Given the description of an element on the screen output the (x, y) to click on. 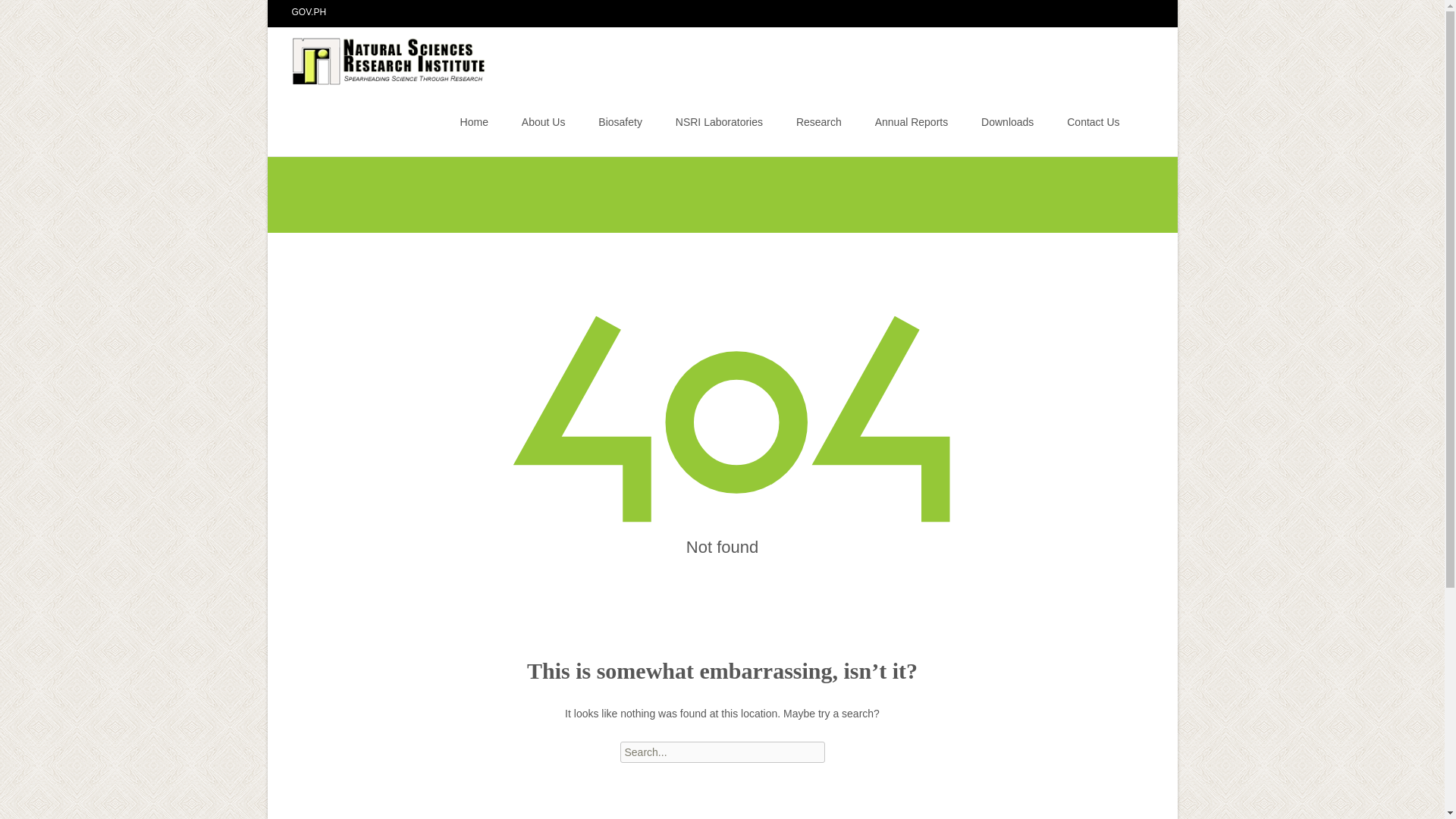
Search for: (722, 752)
Search (34, 14)
Annual Reports (912, 121)
Search for: (1139, 123)
NSRI Laboratories (718, 121)
GOV.PH (308, 11)
Search (18, 14)
Natural Sciences Research Institute (378, 57)
